Given the description of an element on the screen output the (x, y) to click on. 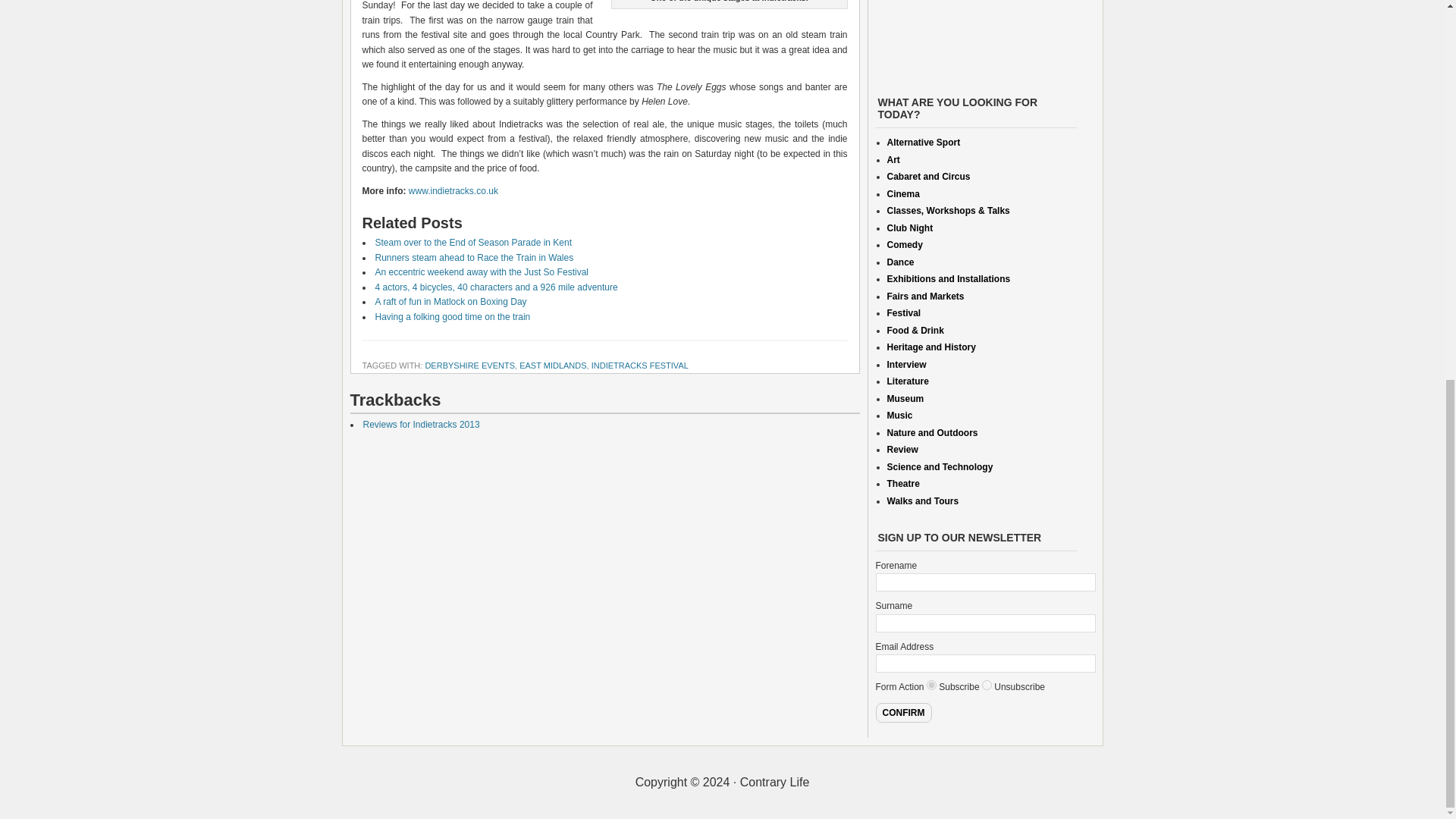
unsubscribe (986, 685)
Steam over to the End of Season Parade in Kent (473, 242)
Indietracks festival 2013 (453, 190)
A raft of fun in Matlock on Boxing Day (449, 301)
Having a folking good time on the train (451, 317)
Runners steam ahead to Race the Train in Wales (473, 257)
4 actors, 4 bicycles, 40 characters and a 926 mile adventure (495, 286)
www.indietracks.co.uk (453, 190)
Confirm (903, 712)
An eccentric weekend away with the Just So Festival (481, 271)
